Given the description of an element on the screen output the (x, y) to click on. 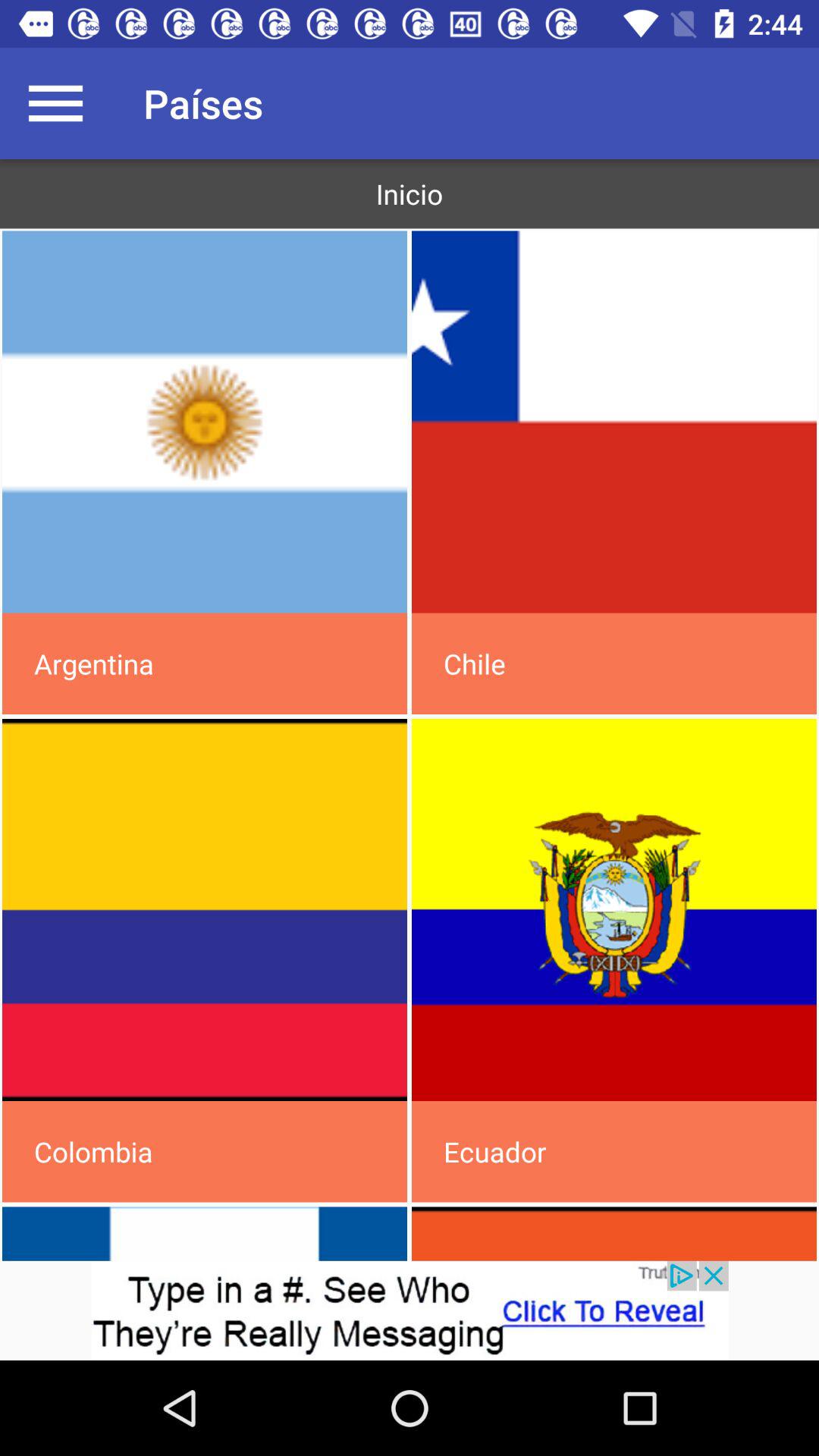
remove add (409, 1310)
